Given the description of an element on the screen output the (x, y) to click on. 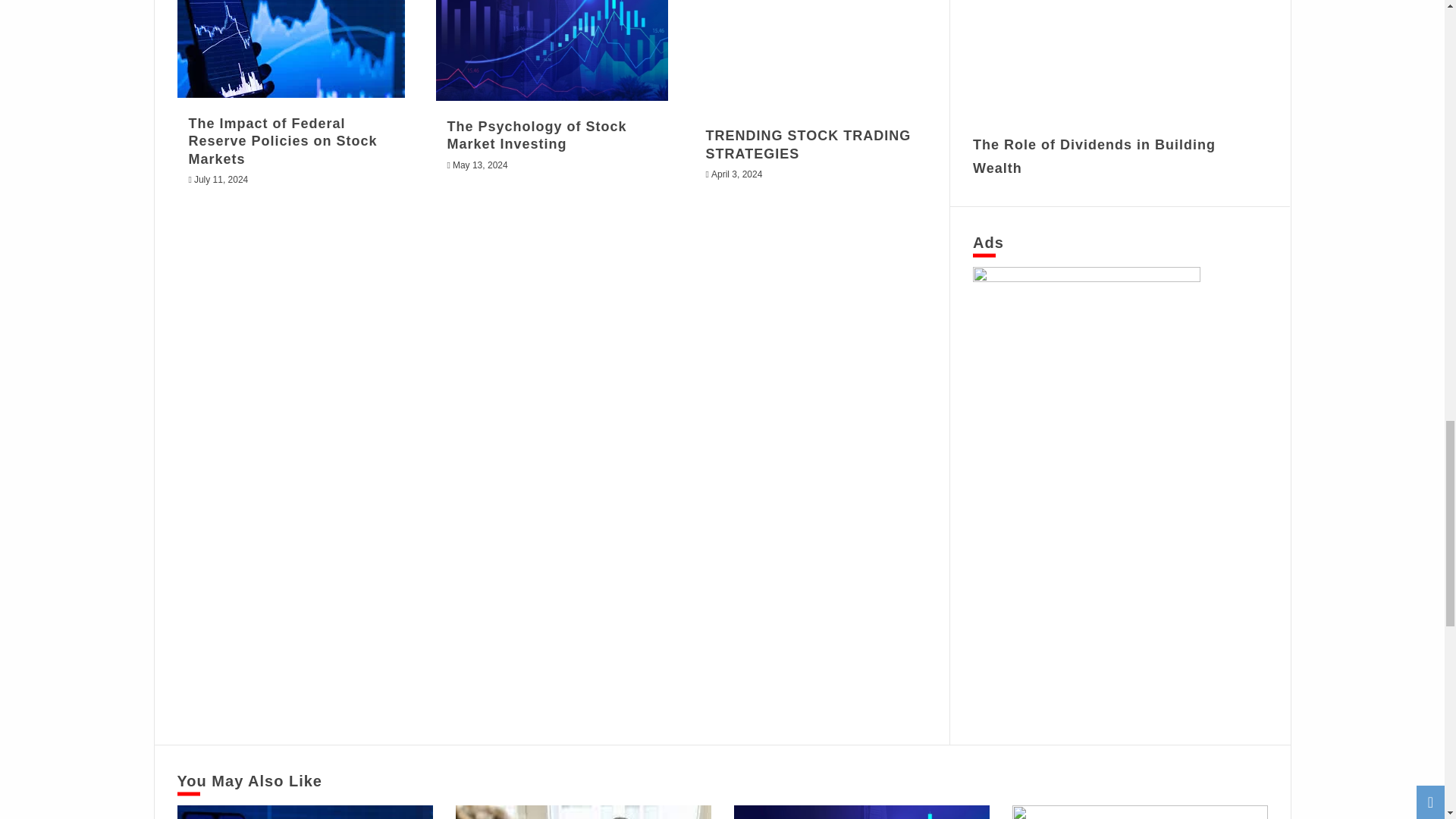
The Impact of Federal Reserve Policies on Stock Markets (282, 141)
April 3, 2024 (736, 173)
The Psychology of Stock Market Investing (536, 134)
May 13, 2024 (480, 164)
July 11, 2024 (220, 179)
TRENDING STOCK TRADING STRATEGIES (808, 143)
